Given the description of an element on the screen output the (x, y) to click on. 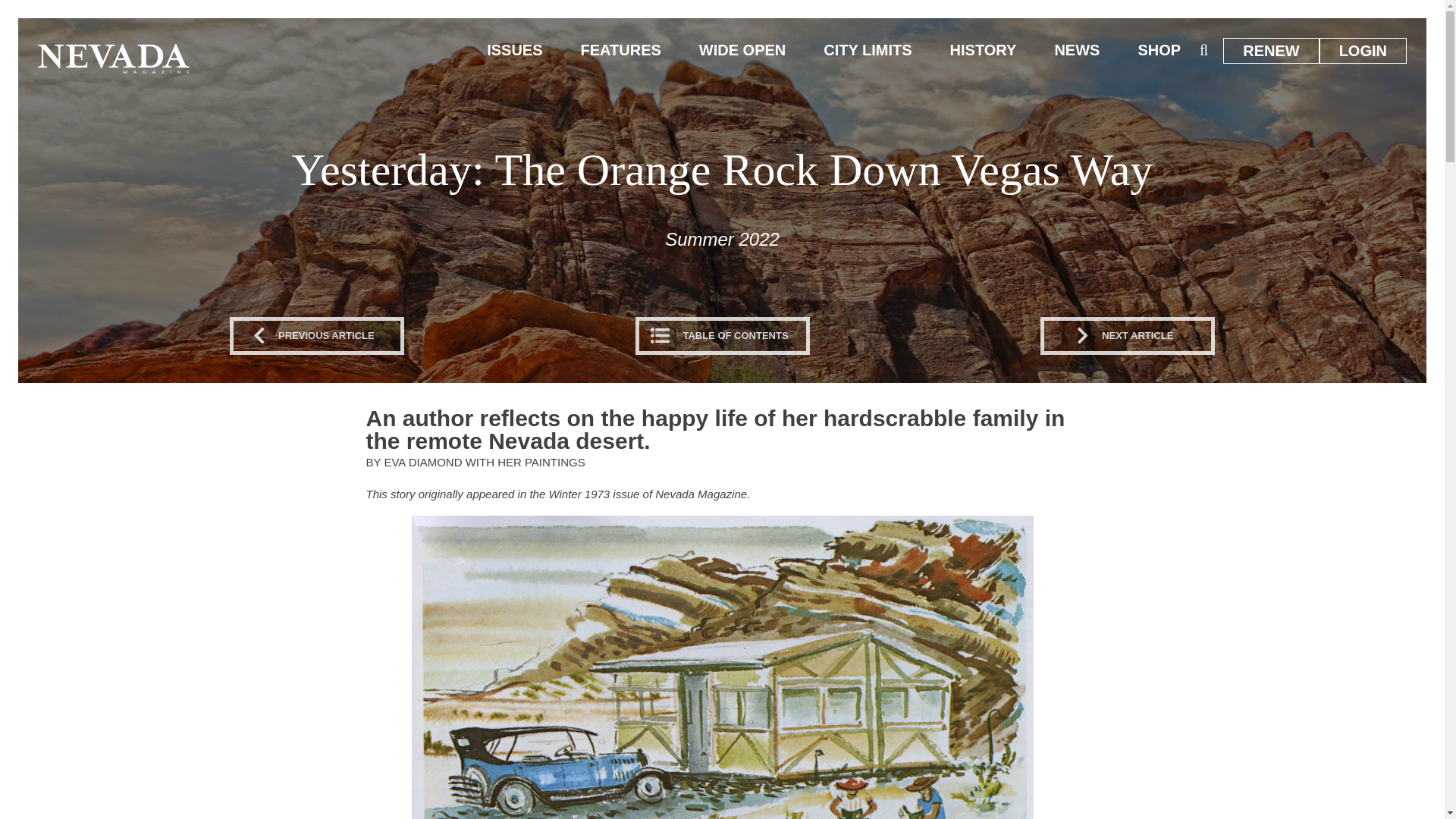
NEWS (1076, 49)
Nevada Magazine (113, 58)
SHOP (1158, 49)
WIDE OPEN (742, 49)
RENEW (1270, 50)
CITY LIMITS (867, 49)
HISTORY (983, 49)
FEATURES (620, 49)
ISSUES (513, 49)
LOGIN (1363, 50)
